Given the description of an element on the screen output the (x, y) to click on. 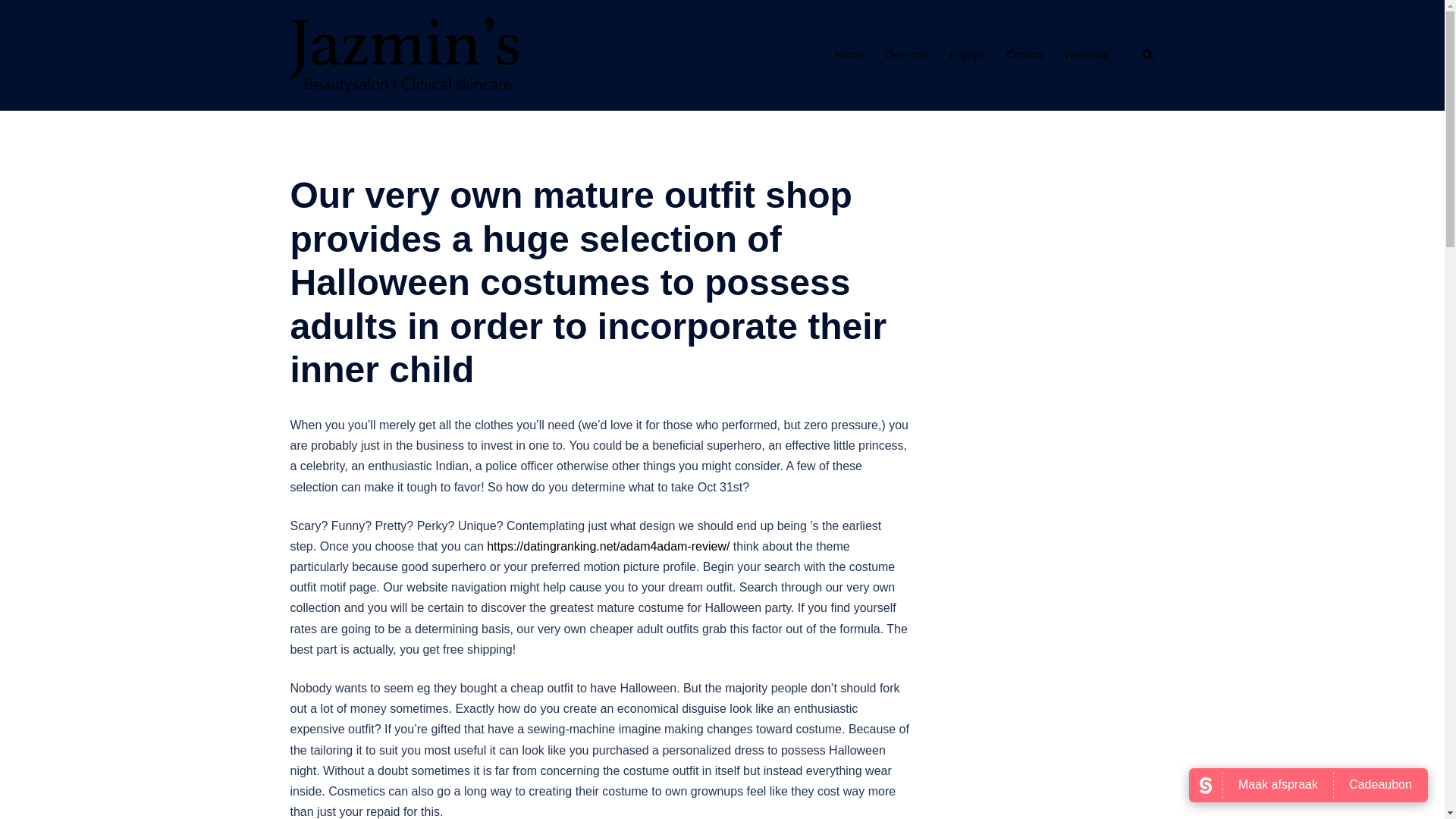
Webshop (1086, 54)
Jazmin' s Beautysalon (403, 53)
Prijslijst (967, 54)
Zoeken (1147, 55)
Contact (1024, 54)
Home (849, 54)
Over ons (906, 54)
